Given the description of an element on the screen output the (x, y) to click on. 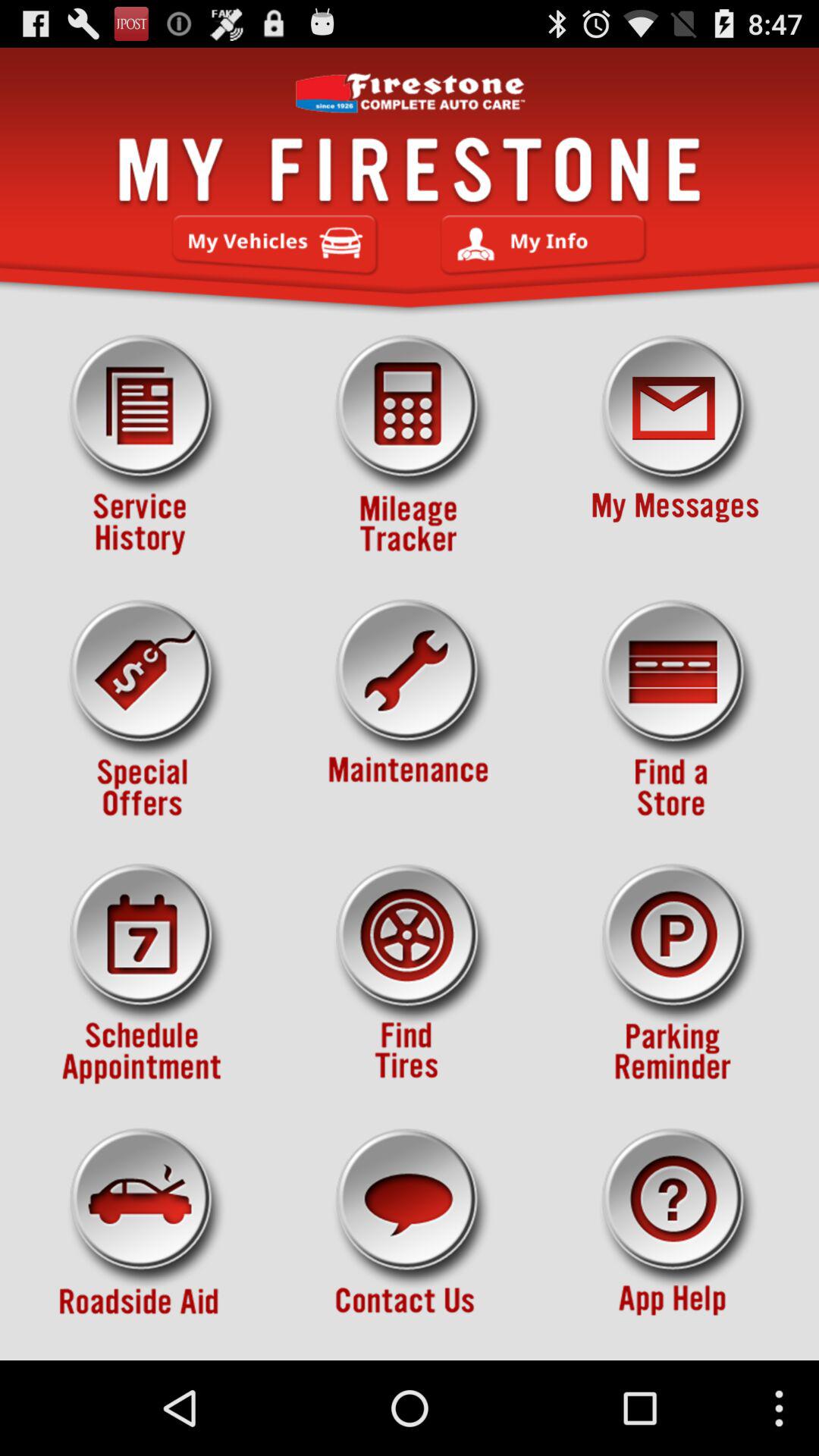
vehicles (275, 245)
